Given the description of an element on the screen output the (x, y) to click on. 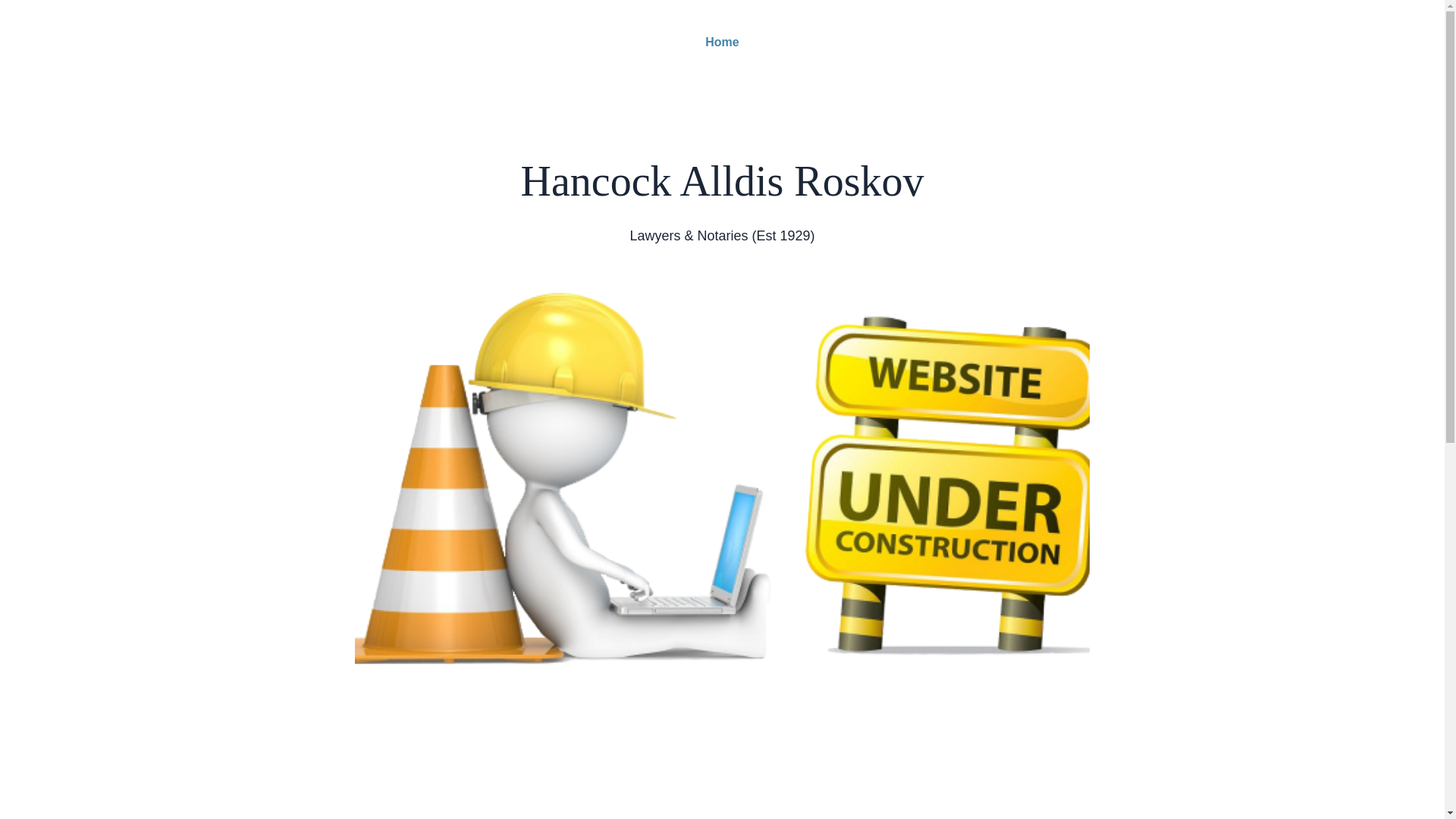
Home Element type: text (721, 42)
